Given the description of an element on the screen output the (x, y) to click on. 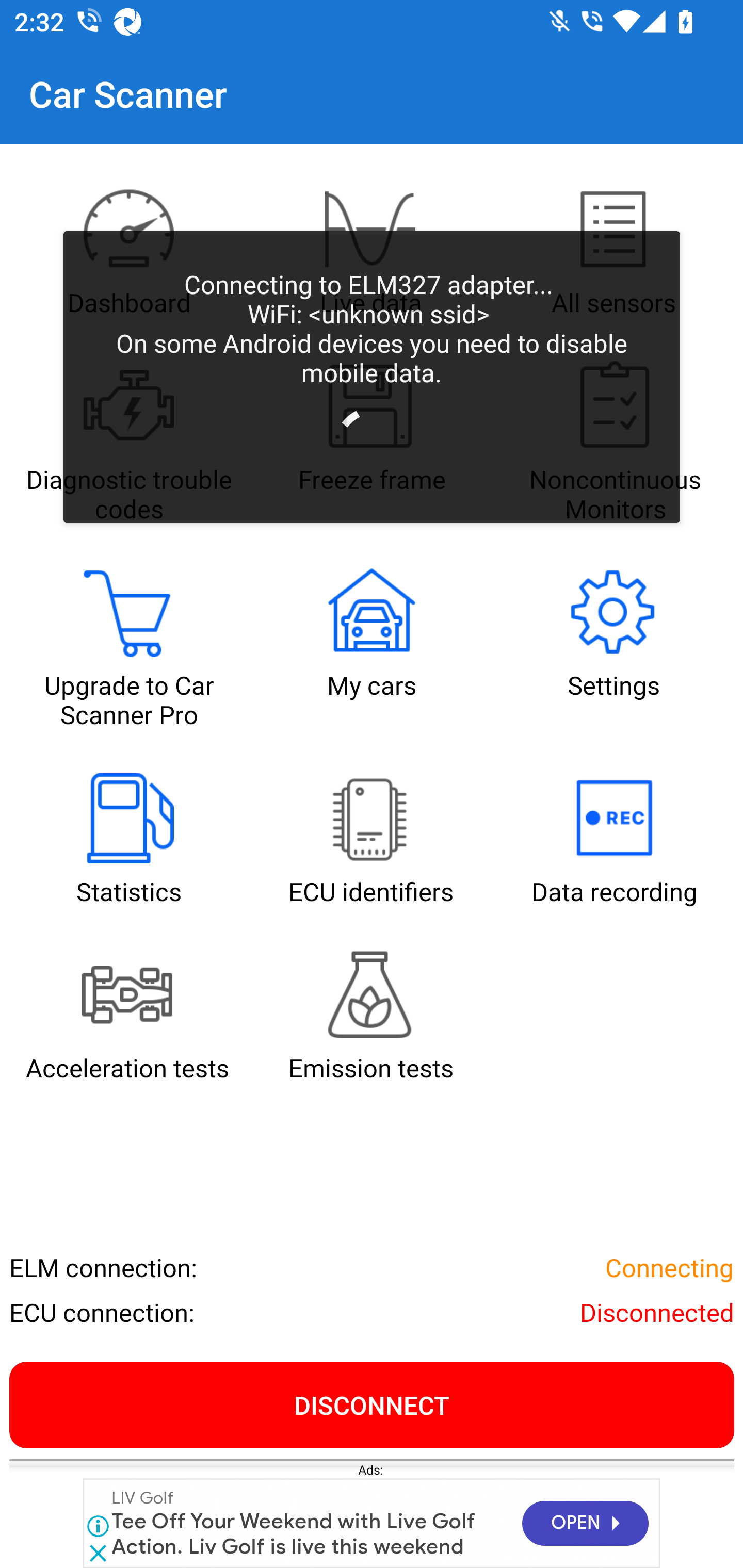
DISCONNECT (371, 1404)
LIV Golf (142, 1497)
OPEN (584, 1523)
